Given the description of an element on the screen output the (x, y) to click on. 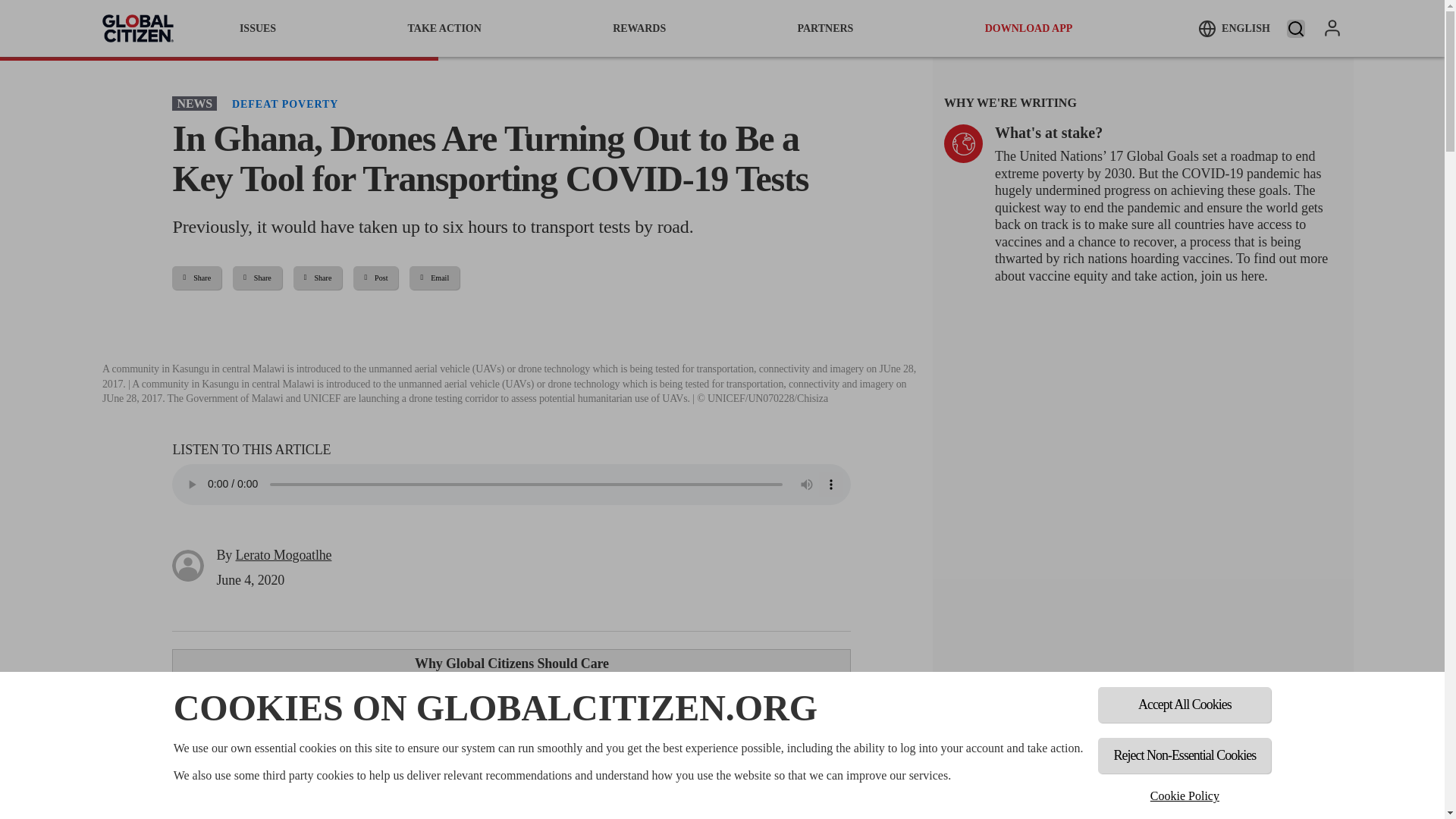
Defeat Poverty (284, 103)
PARTNERS (825, 28)
DEFEAT POVERTY (284, 103)
TAKE ACTION (444, 28)
DOWNLOAD APP (1029, 28)
Share (196, 277)
ISSUES (257, 28)
ENGLISH (1233, 28)
REWARDS (639, 28)
